Given the description of an element on the screen output the (x, y) to click on. 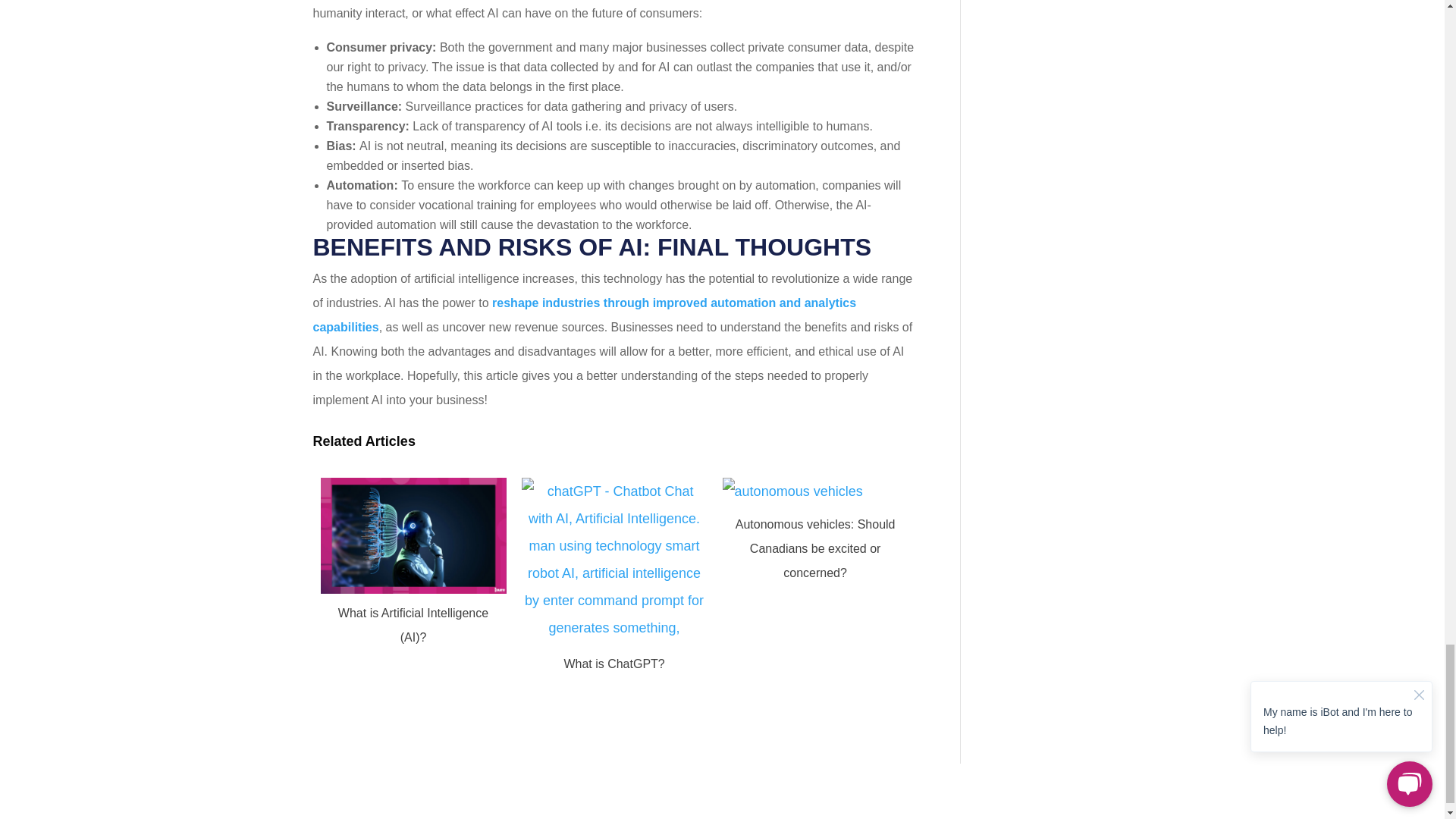
What is ChatGPT? (614, 682)
What is ChatGPT? (614, 663)
